Given the description of an element on the screen output the (x, y) to click on. 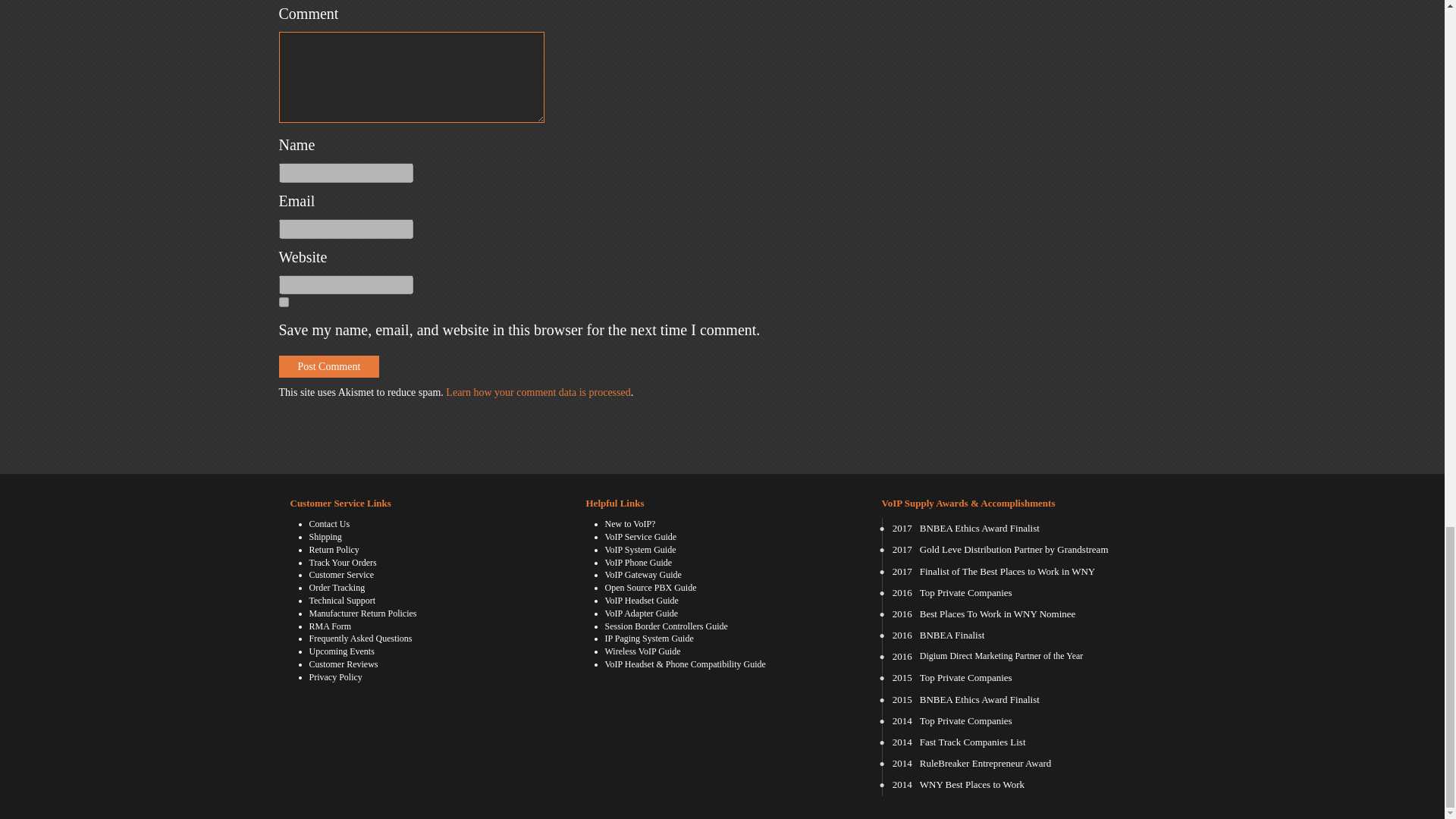
yes (283, 302)
Post Comment (329, 366)
